Given the description of an element on the screen output the (x, y) to click on. 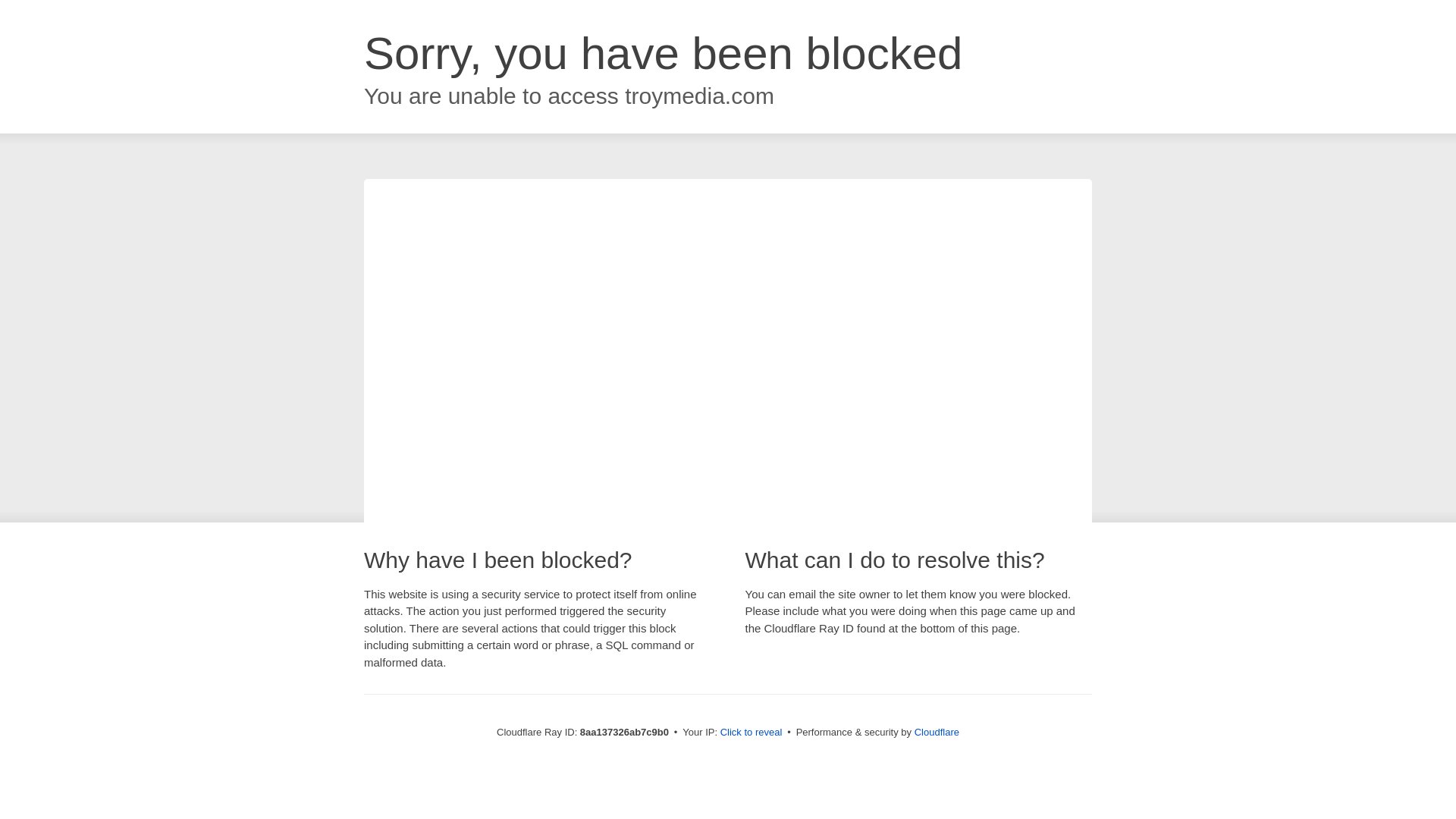
Click to reveal (751, 732)
Cloudflare (936, 731)
